Given the description of an element on the screen output the (x, y) to click on. 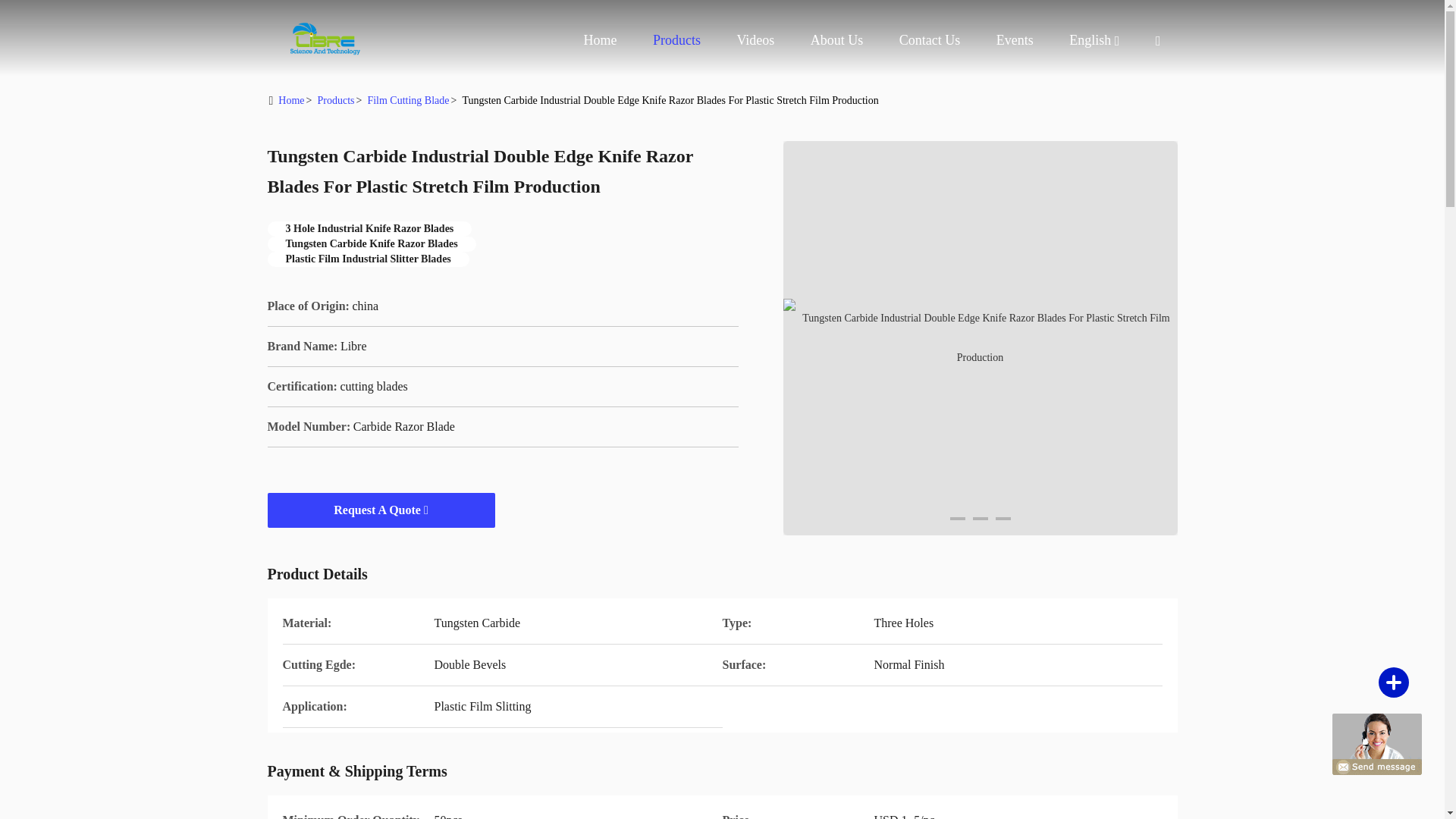
Products (676, 40)
Products (676, 40)
Contact Us (929, 40)
Home (327, 37)
About Us (836, 40)
